Given the description of an element on the screen output the (x, y) to click on. 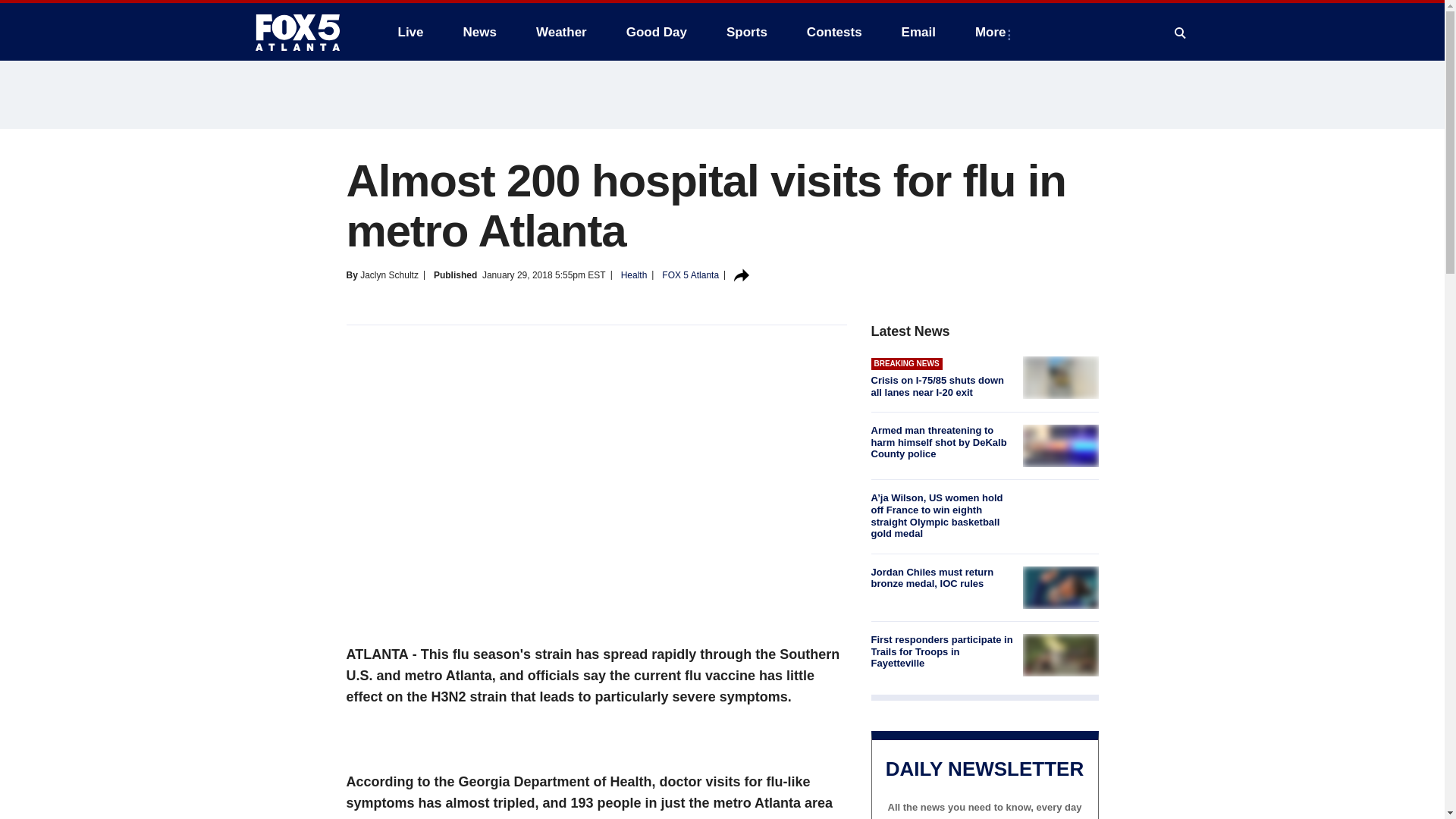
News (479, 32)
More (993, 32)
Weather (561, 32)
Sports (746, 32)
Live (410, 32)
Email (918, 32)
Contests (834, 32)
Good Day (656, 32)
